Given the description of an element on the screen output the (x, y) to click on. 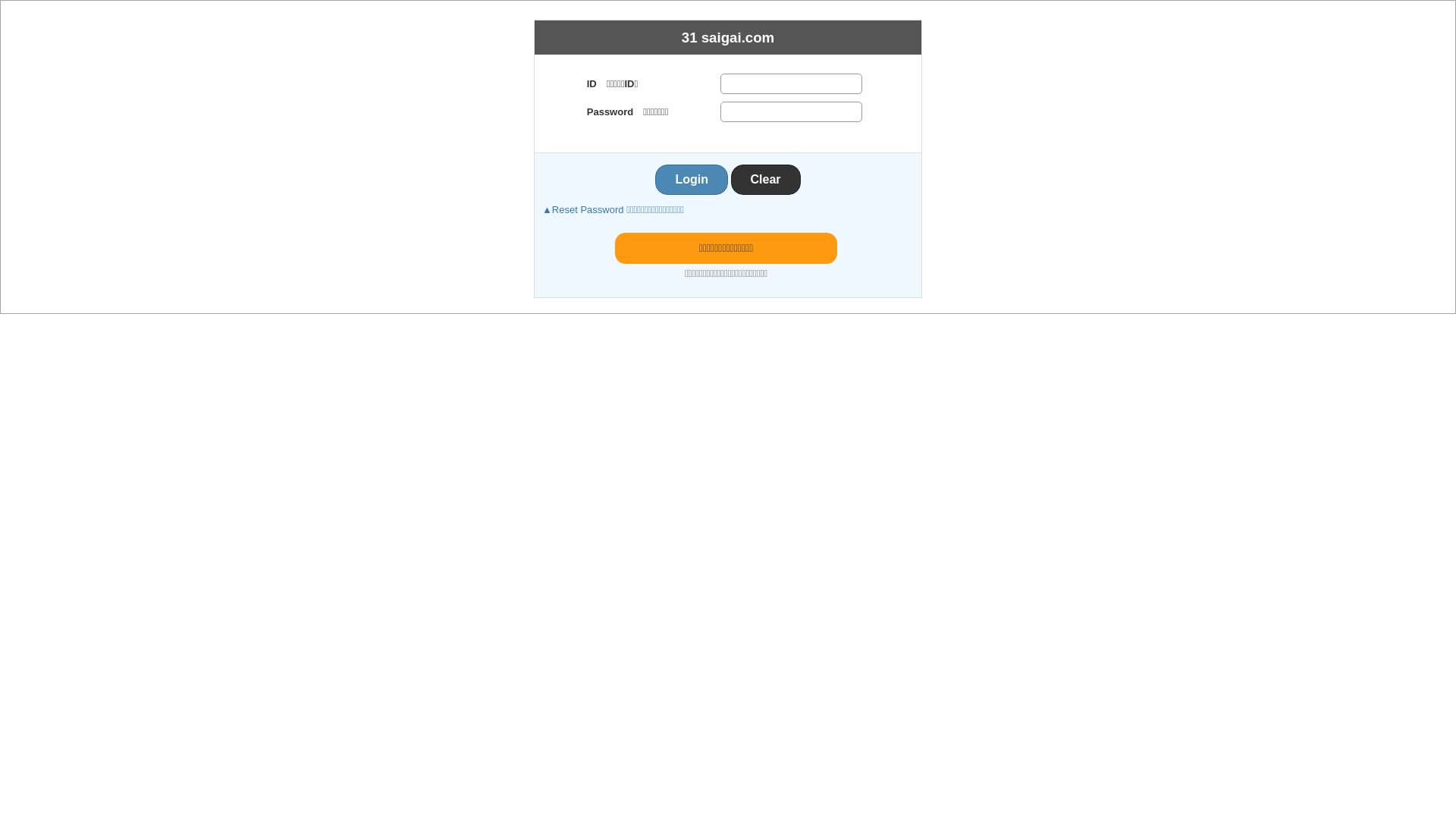
Clear Element type: text (765, 179)
Login Element type: text (691, 179)
